Given the description of an element on the screen output the (x, y) to click on. 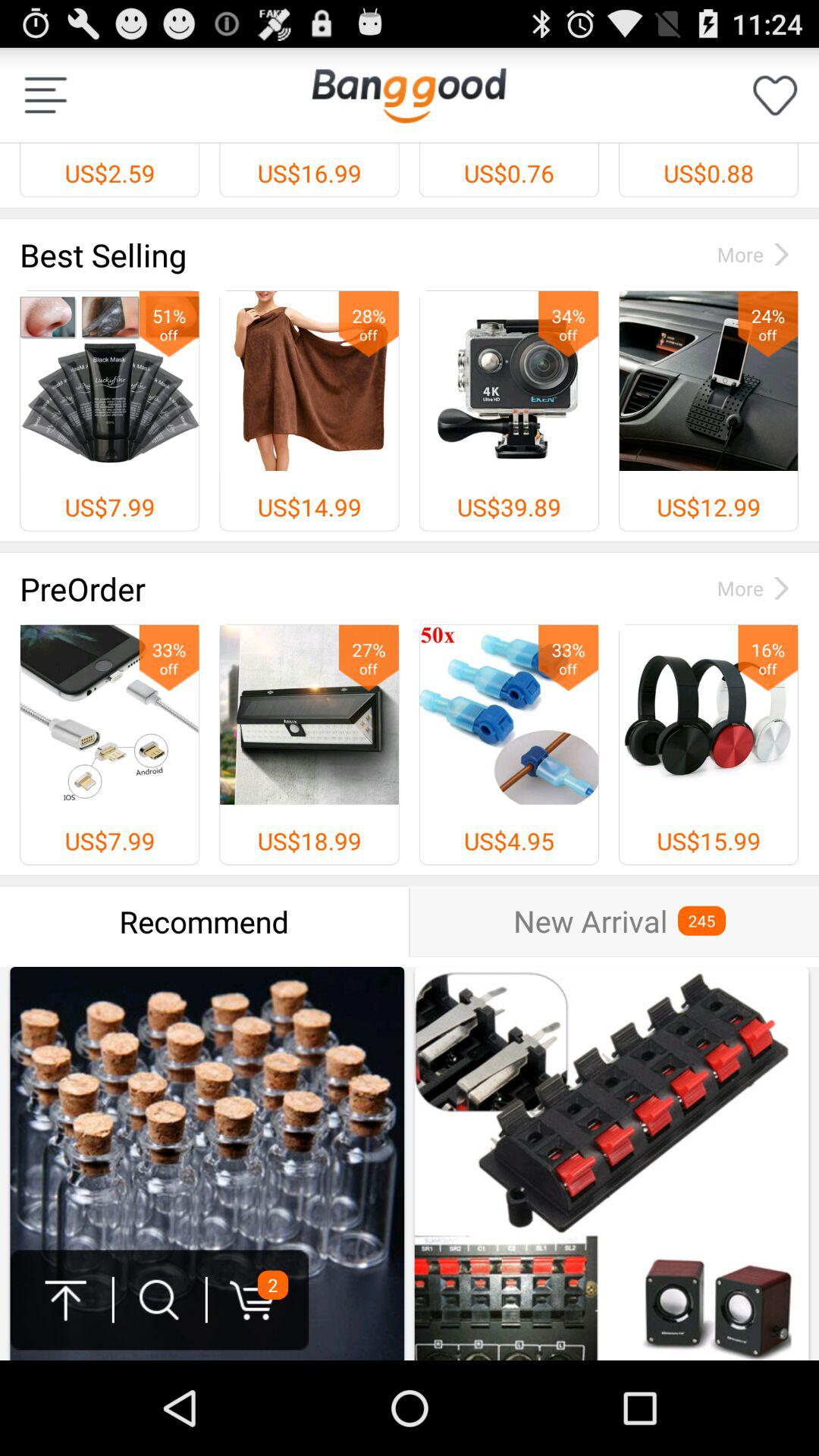
turn off the app to the left of the 245 app (590, 920)
